Given the description of an element on the screen output the (x, y) to click on. 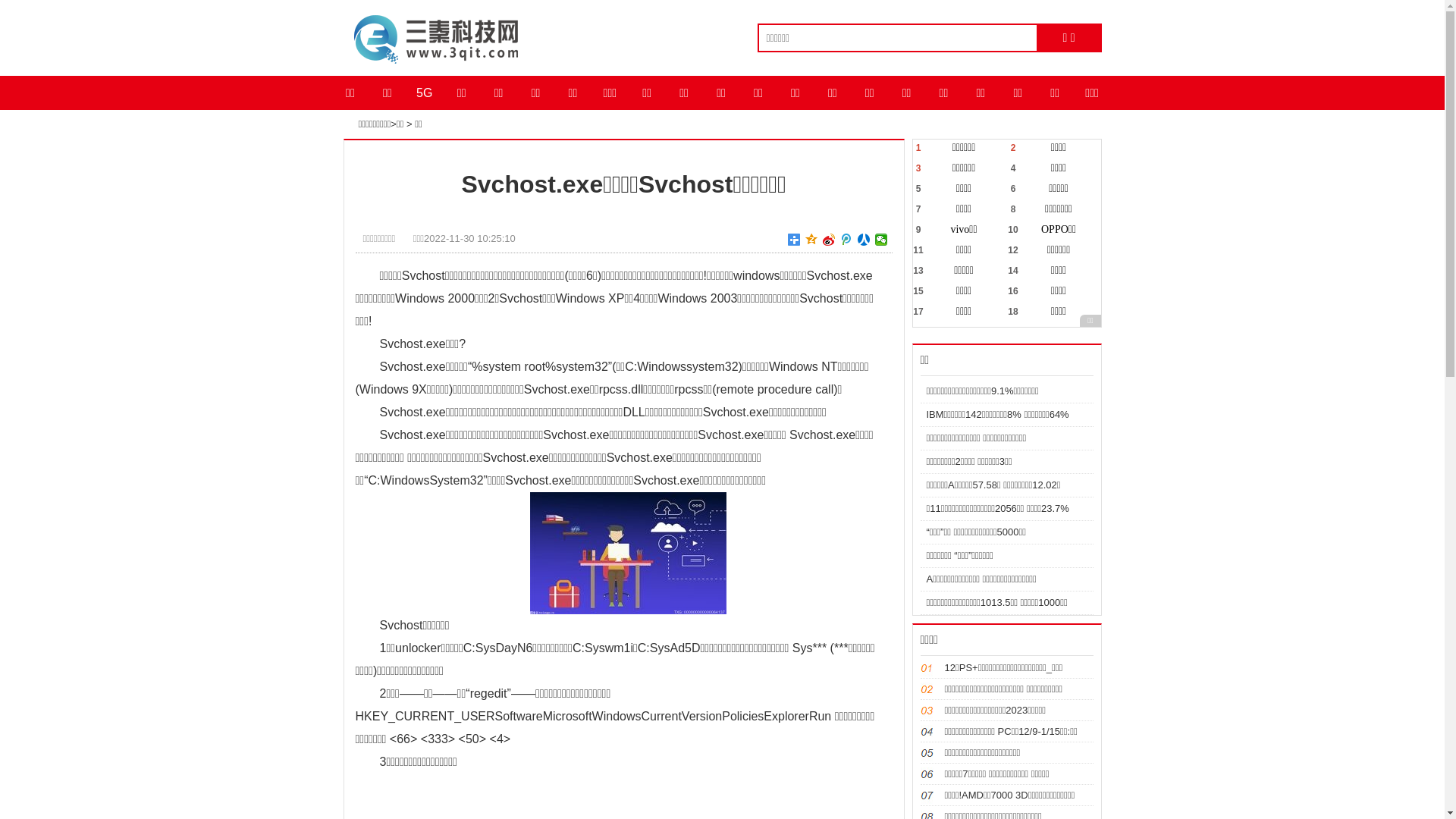
5G Element type: text (423, 92)
